Given the description of an element on the screen output the (x, y) to click on. 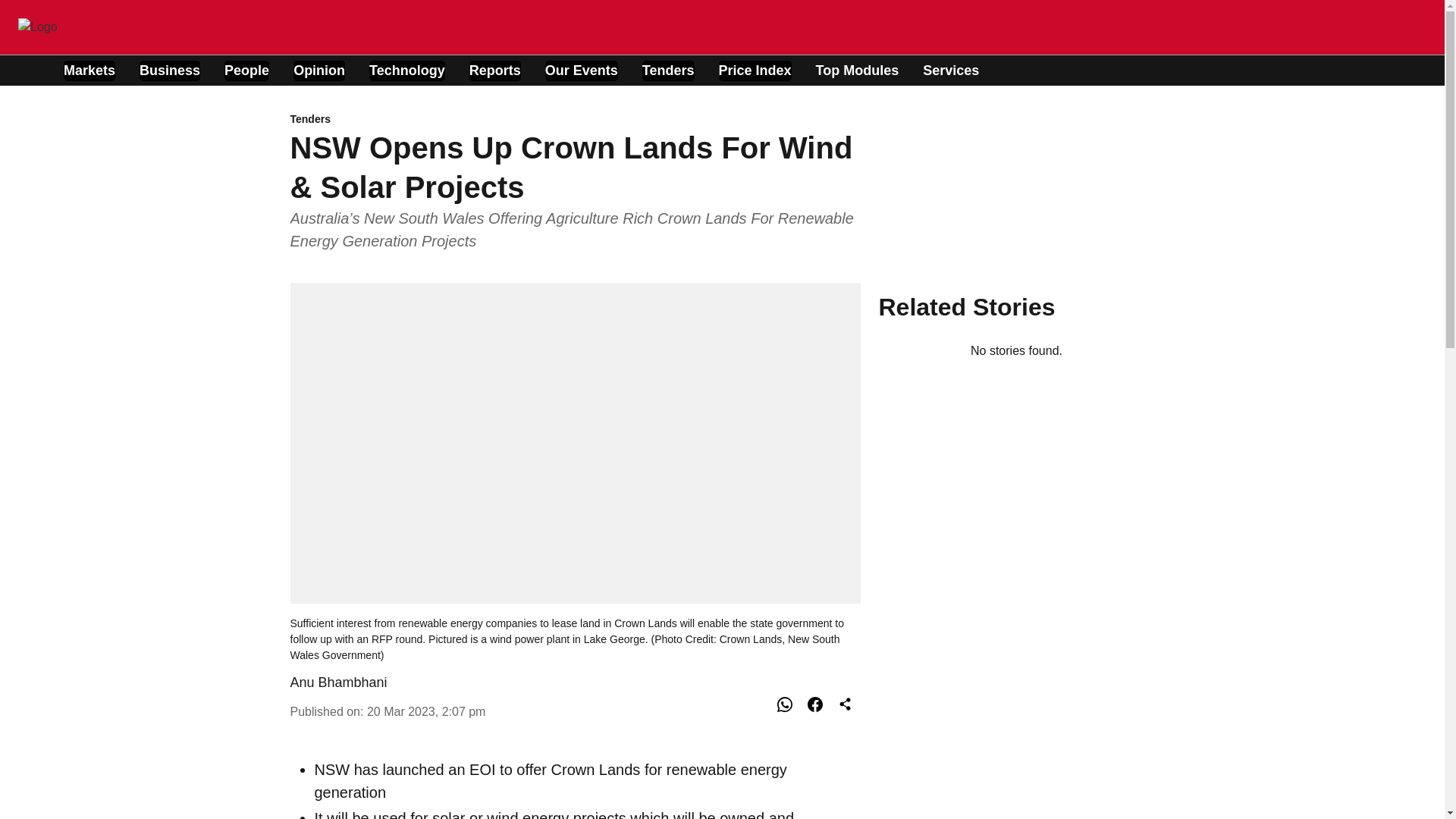
Our Events (580, 70)
Technology (407, 70)
Tenders (574, 119)
Opinion (319, 70)
Markets (89, 70)
Business (169, 70)
Price Index (755, 70)
Tenders (668, 70)
Anu Bhambhani (338, 682)
